Given the description of an element on the screen output the (x, y) to click on. 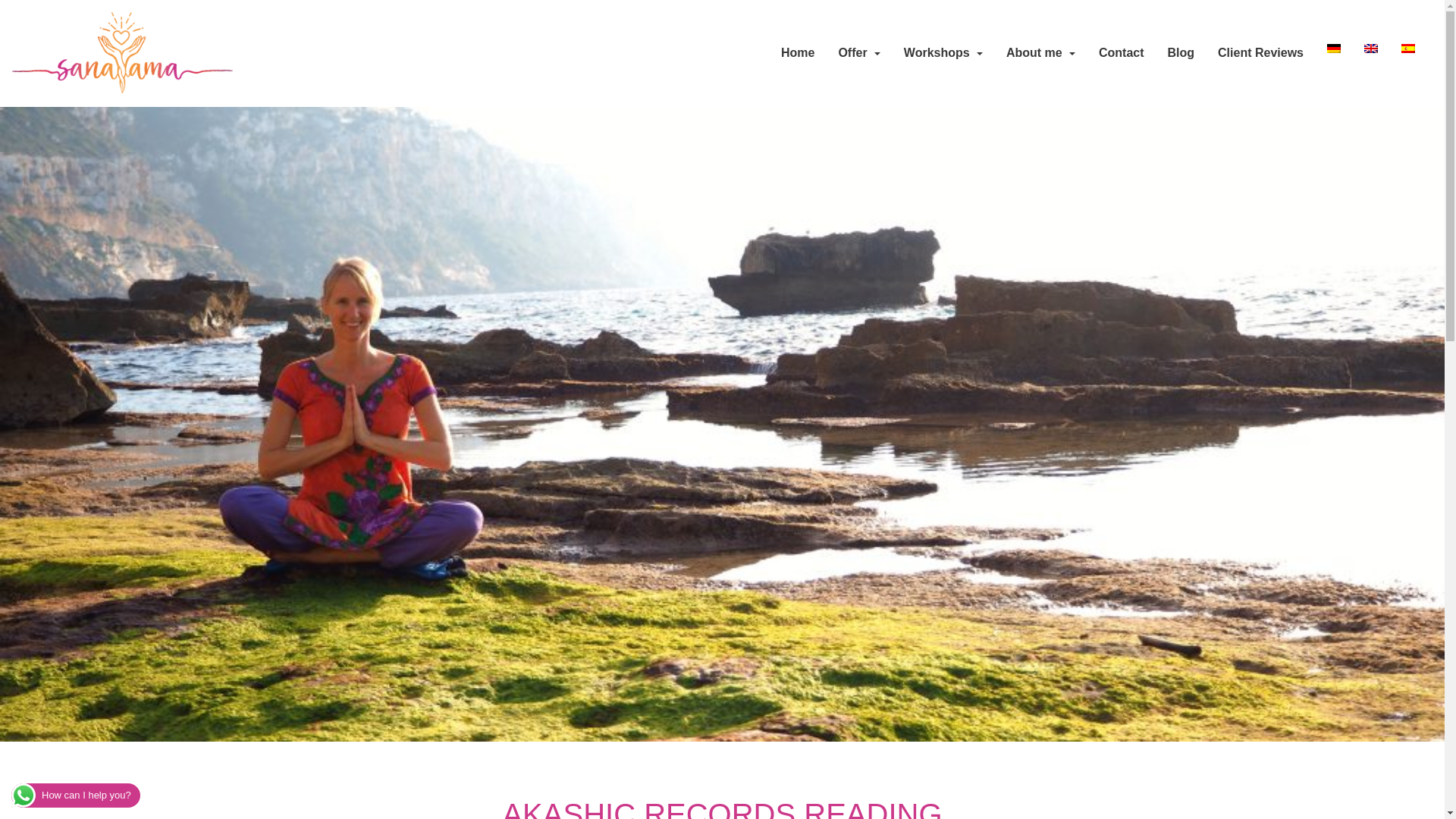
Workshops (943, 52)
Workshops (943, 52)
Home (797, 52)
Offer (858, 52)
Offer (858, 52)
About me (1040, 52)
Contact (1121, 52)
Home (797, 52)
Blog (1181, 52)
Client Reviews (1259, 52)
